Given the description of an element on the screen output the (x, y) to click on. 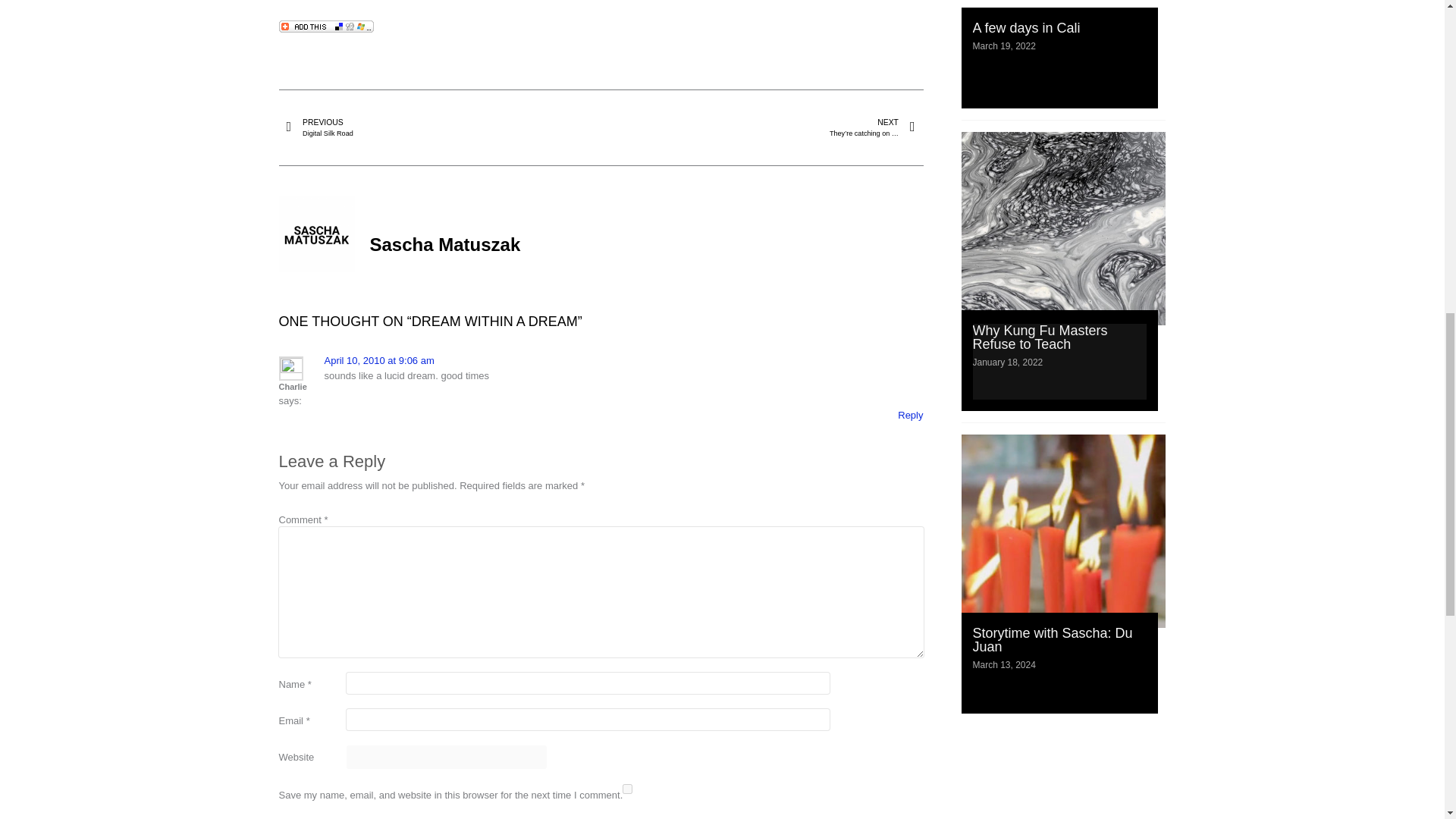
yes (443, 127)
Storytime with Sascha: Du Juan (627, 788)
Why Kung Fu Masters Refuse to Teach (1052, 639)
April 10, 2010 at 9:06 am (1039, 337)
A few days in Cali (378, 360)
Reply (1026, 28)
